Given the description of an element on the screen output the (x, y) to click on. 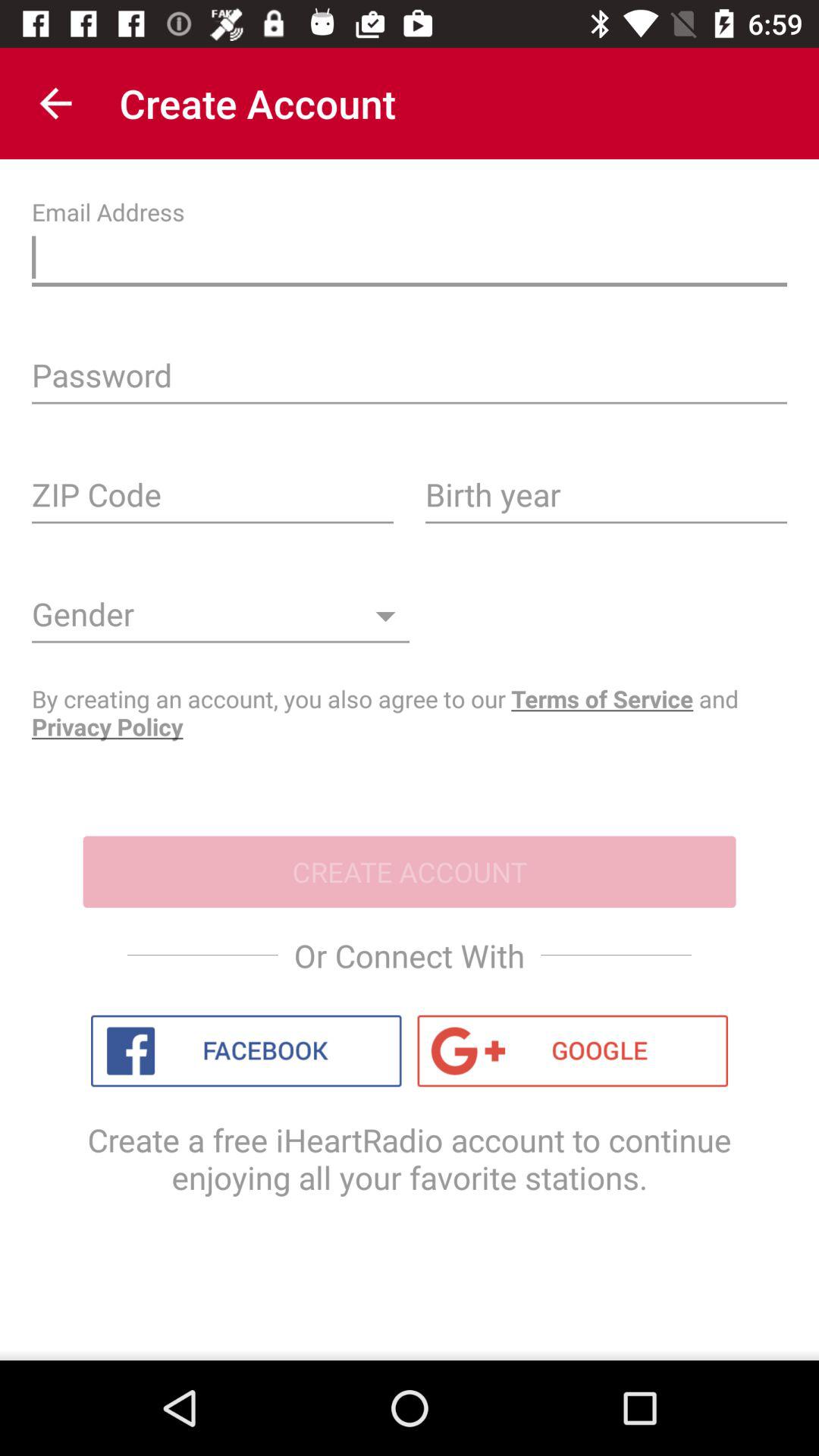
launch item at the bottom left corner (246, 1050)
